Given the description of an element on the screen output the (x, y) to click on. 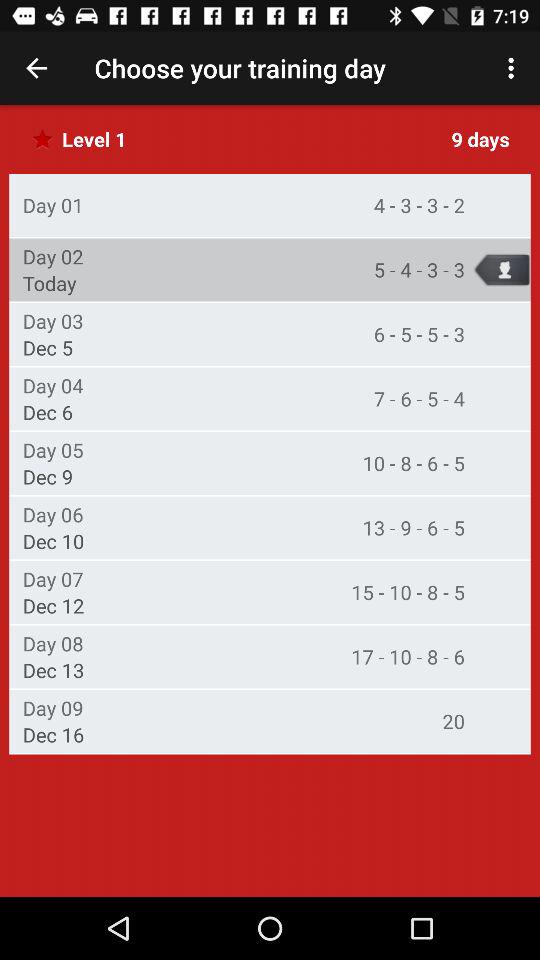
launch icon below the day 04 icon (47, 412)
